Given the description of an element on the screen output the (x, y) to click on. 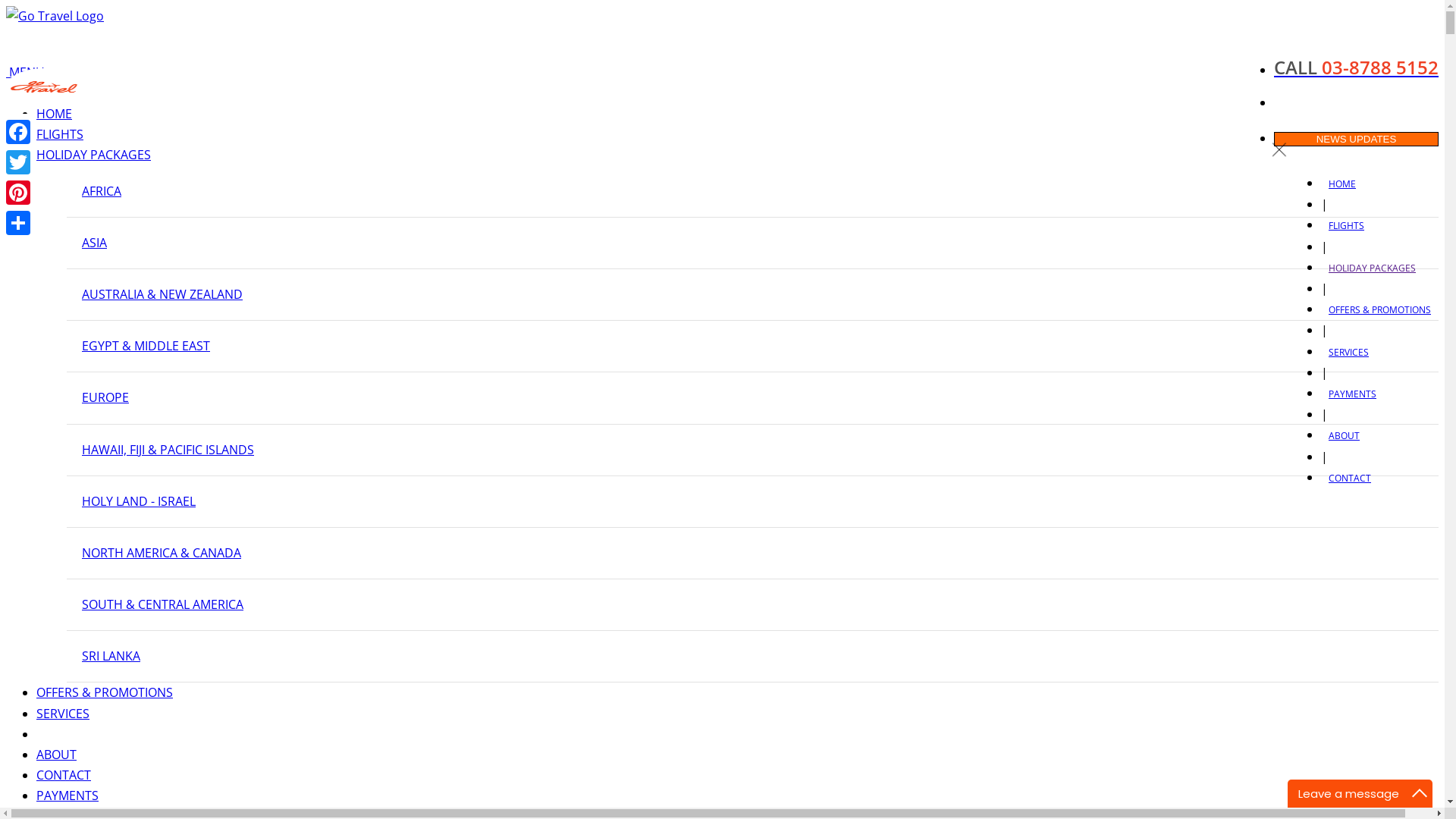
| Element type: text (1324, 413)
NORTH AMERICA & CANADA Element type: text (161, 552)
ASIA Element type: text (93, 242)
SOUTH & CENTRAL AMERICA Element type: text (162, 604)
PAYMENTS Element type: text (67, 795)
CONTACT Element type: text (63, 774)
ABOUT Element type: text (56, 754)
| Element type: text (1324, 246)
| Element type: text (1324, 372)
| Element type: text (1324, 287)
NEWS UPDATES Element type: text (1356, 137)
Facebook Element type: text (18, 131)
Twitter Element type: text (18, 162)
HOLIDAY PACKAGES Element type: text (93, 154)
HOME Element type: text (54, 113)
SRI LANKA Element type: text (110, 655)
OFFERS & PROMOTIONS Element type: text (1379, 309)
CONTACT Element type: text (1349, 477)
Share Element type: text (18, 222)
ABOUT Element type: text (1344, 435)
| Element type: text (1324, 329)
| Element type: text (1324, 203)
SERVICES Element type: text (1348, 351)
HOLY LAND - ISRAEL Element type: text (138, 500)
| Element type: text (1324, 456)
SERVICES Element type: text (62, 713)
HOLIDAY PACKAGES Element type: text (1372, 267)
OFFERS & PROMOTIONS Element type: text (104, 692)
Pinterest Element type: text (18, 192)
EGYPT & MIDDLE EAST Element type: text (145, 345)
EUROPE Element type: text (104, 397)
FLIGHTS Element type: text (59, 133)
Logo Element type: hover (43, 87)
NEWS UPDATES Element type: text (1356, 138)
Go Travel Logo Element type: hover (54, 16)
AUSTRALIA & NEW ZEALAND Element type: text (161, 293)
Maximize Element type: hover (1419, 793)
HAWAII, FIJI & PACIFIC ISLANDS Element type: text (167, 449)
HOME Element type: text (1342, 183)
 MENU Element type: text (25, 71)
AFRICA Element type: text (101, 190)
PAYMENTS Element type: text (1352, 393)
FLIGHTS Element type: text (1346, 225)
CALL 03-8788 5152 Element type: text (1356, 67)
